Given the description of an element on the screen output the (x, y) to click on. 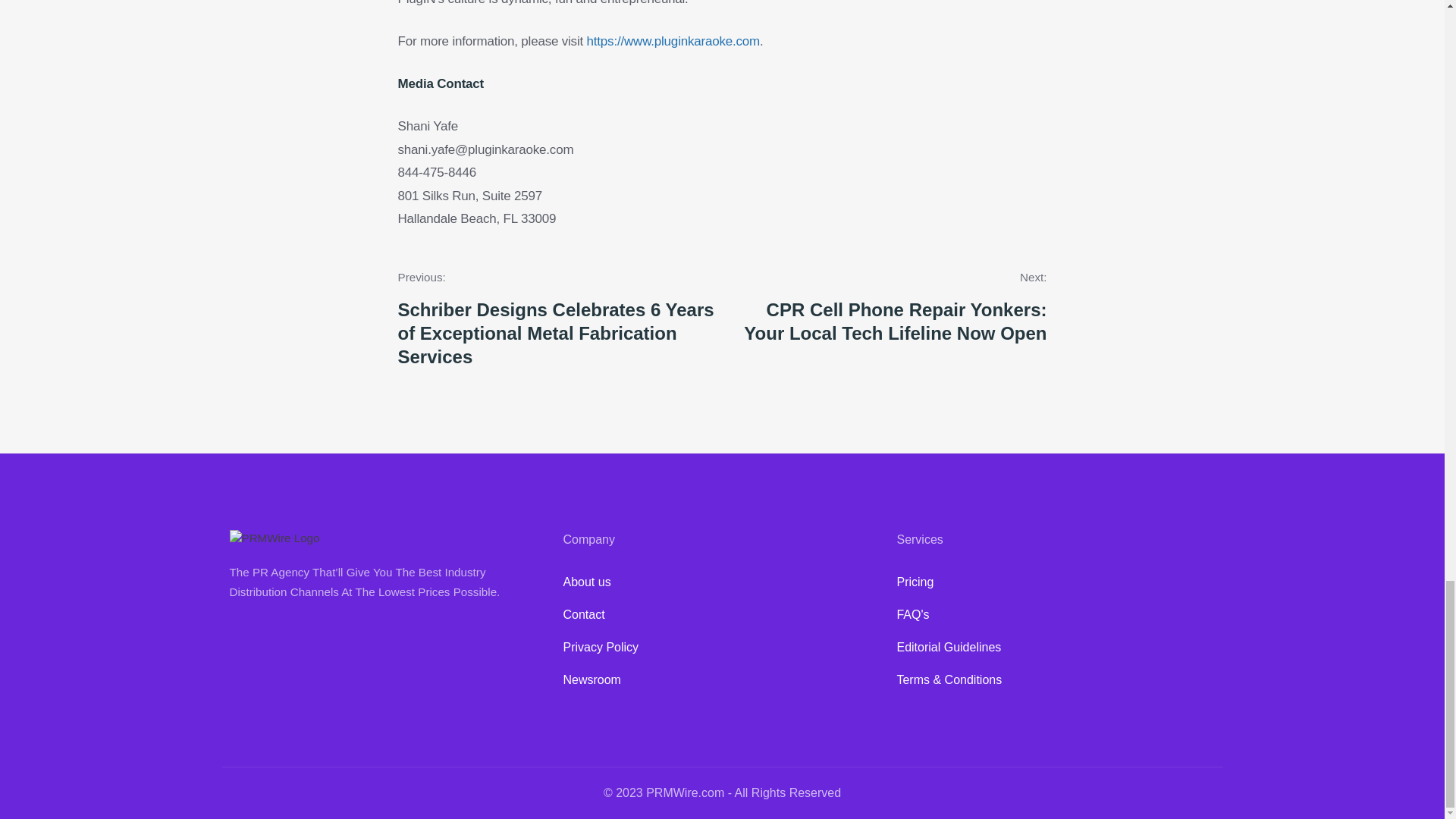
Contact (721, 614)
Editorial Guidelines (1055, 647)
Privacy Policy (721, 647)
PRMWire-Dark-Logo (273, 538)
Pricing (1055, 581)
FAQ's (1055, 614)
Newsroom (721, 680)
About us (721, 581)
